Given the description of an element on the screen output the (x, y) to click on. 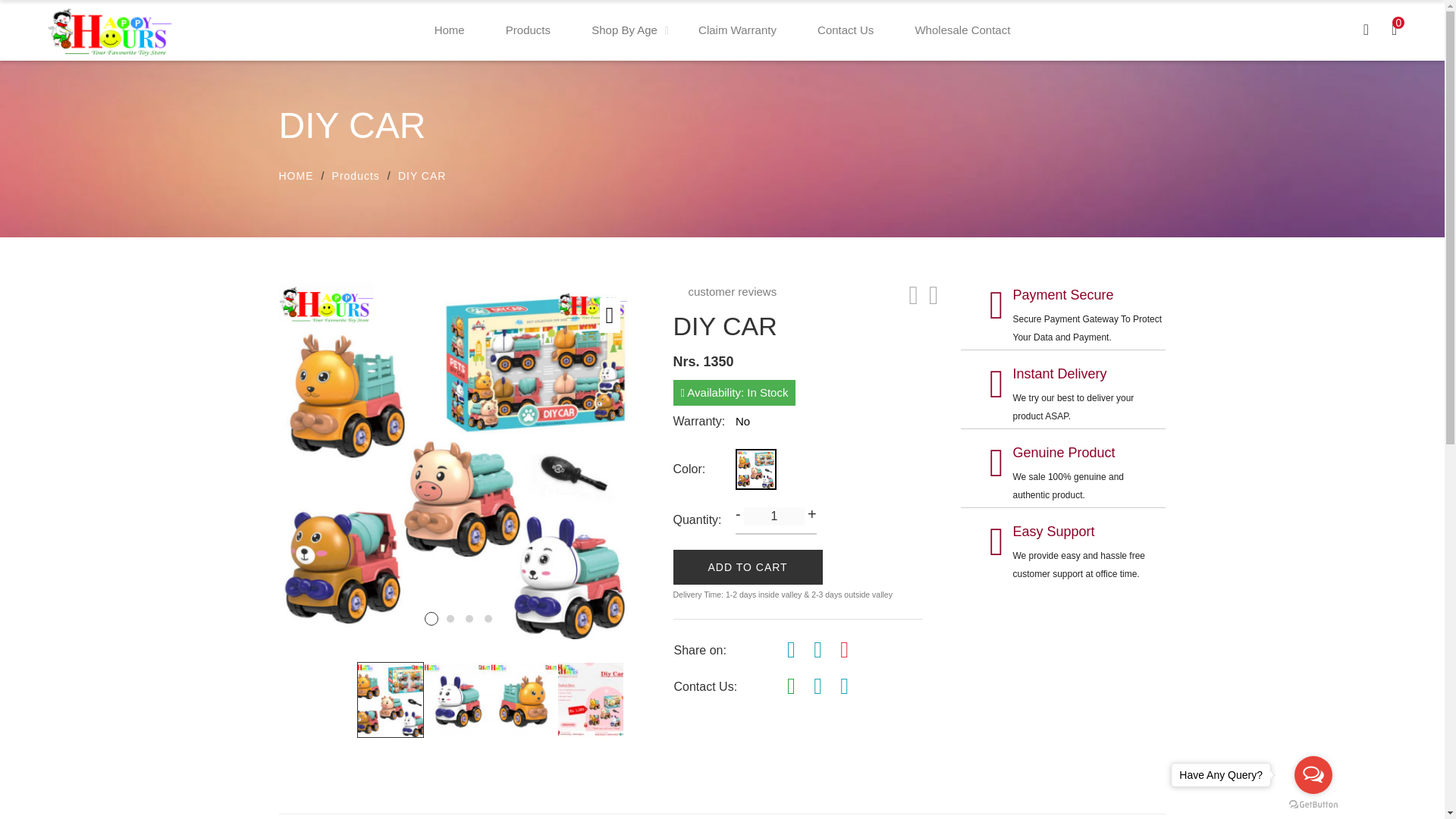
whatsapp (790, 686)
1 (431, 618)
Contact Us (844, 30)
Claim Warranty (737, 30)
Products (355, 176)
Color: any (760, 468)
2 (450, 618)
viber (844, 688)
1 (774, 515)
Home (448, 30)
0 (1393, 30)
viber (817, 688)
Wholesale Contact (962, 30)
Products (527, 30)
HOME (296, 176)
